Given the description of an element on the screen output the (x, y) to click on. 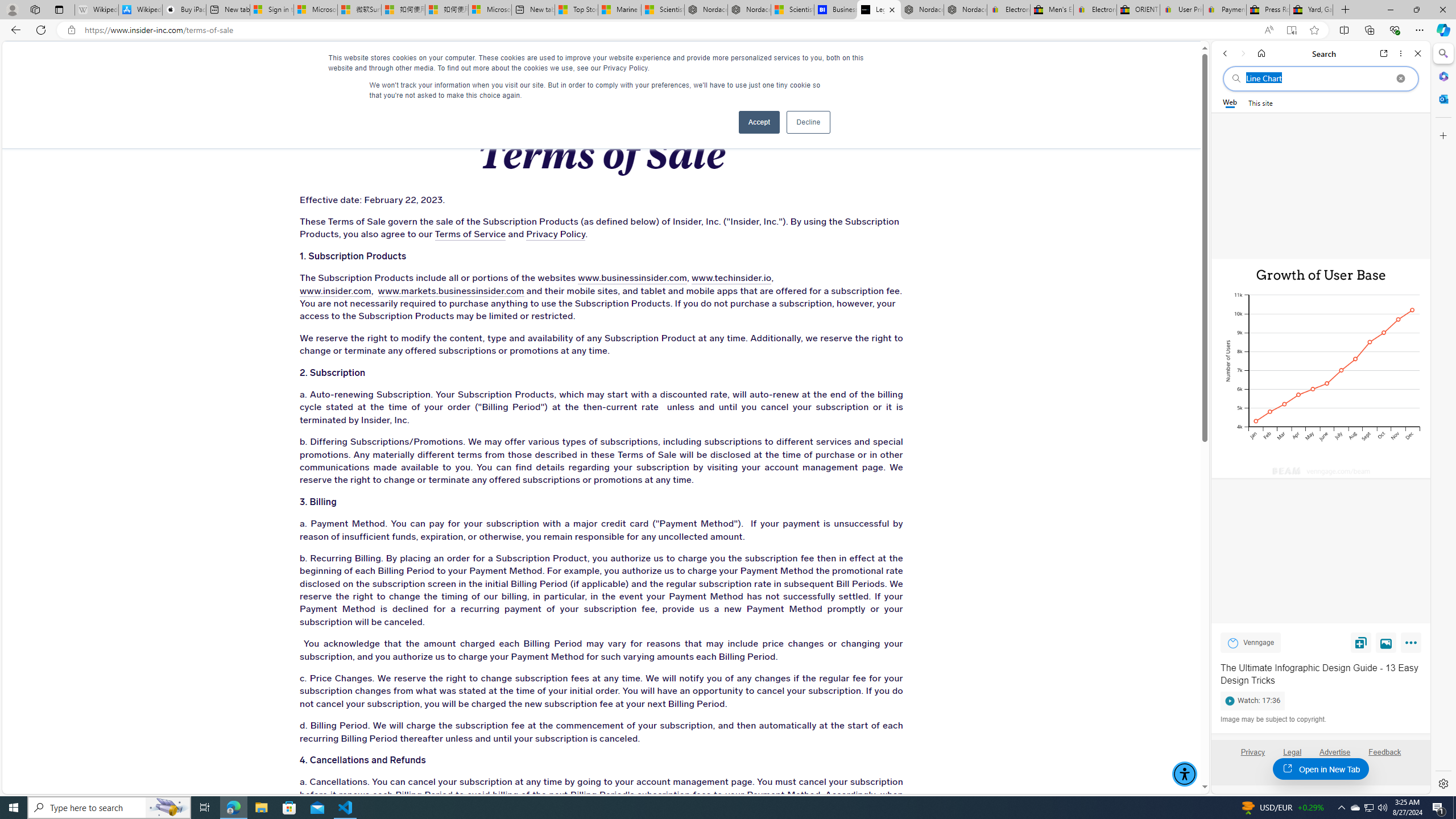
Clear (1400, 78)
ADVERTISE WITH US (446, 62)
www.markets.businessinsider.com (450, 291)
